Given the description of an element on the screen output the (x, y) to click on. 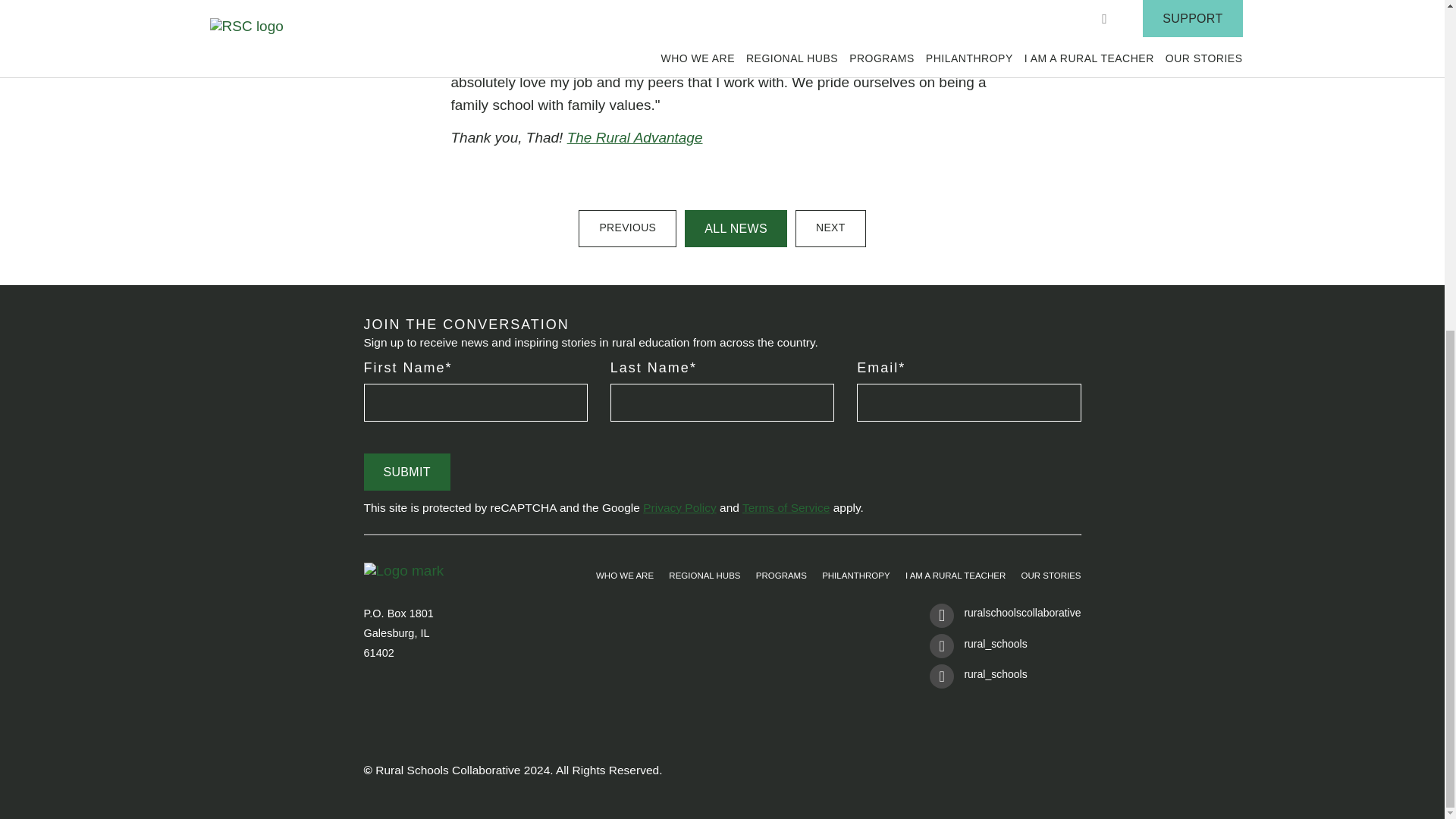
The Rural Advantage (635, 137)
ruralschoolscollaborative (1005, 618)
PREVIOUS (627, 228)
